Given the description of an element on the screen output the (x, y) to click on. 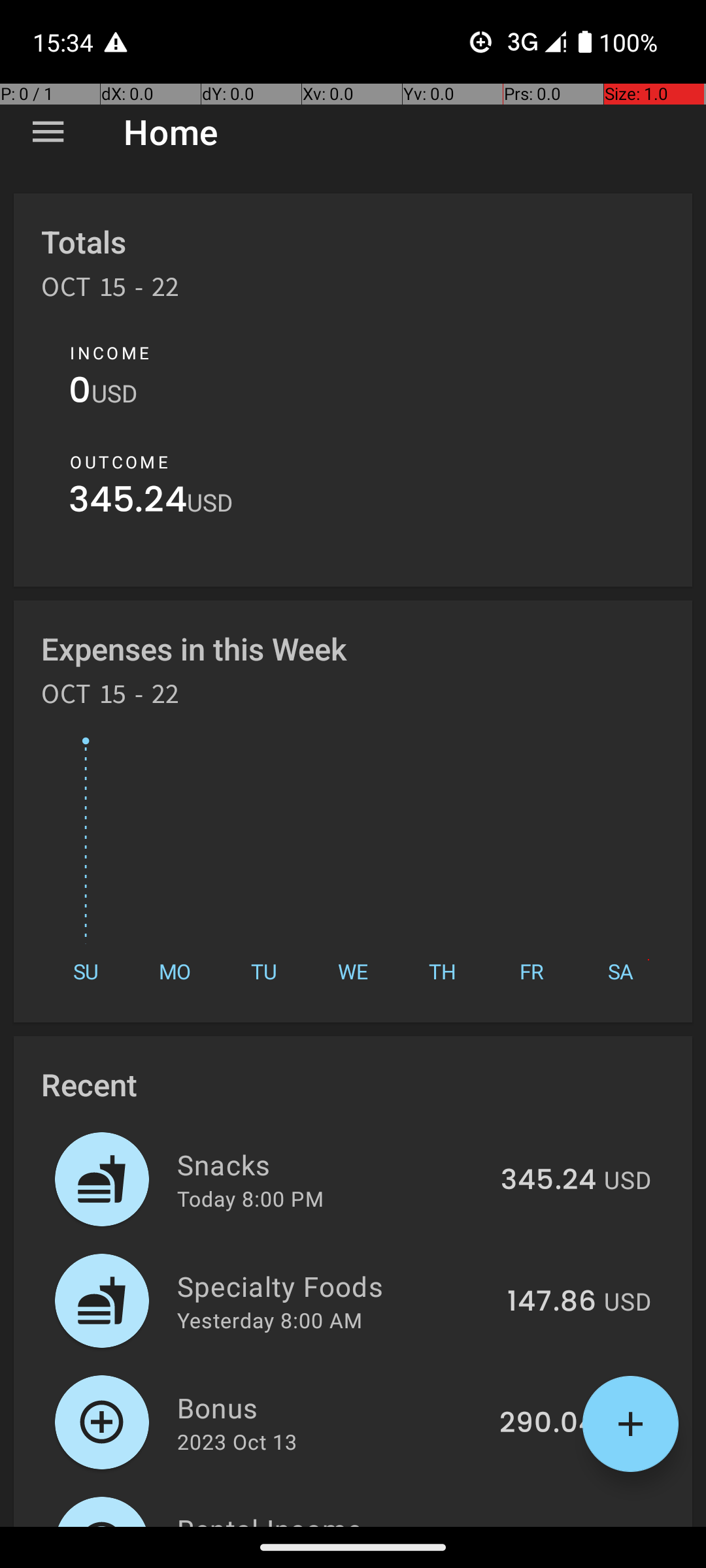
Totals Element type: android.widget.TextView (83, 240)
OCT 15 - 22 Element type: android.widget.TextView (110, 291)
INCOME Element type: android.widget.TextView (109, 352)
OUTCOME Element type: android.widget.TextView (118, 461)
345.24 Element type: android.widget.TextView (127, 502)
Expenses in this Week Element type: android.widget.TextView (194, 648)
Recent Element type: android.widget.TextView (89, 1083)
Snacks Element type: android.widget.TextView (331, 1164)
Today 8:00 PM Element type: android.widget.TextView (250, 1198)
Specialty Foods Element type: android.widget.TextView (334, 1285)
Yesterday 8:00 AM Element type: android.widget.TextView (269, 1320)
147.86 Element type: android.widget.TextView (551, 1301)
Bonus Element type: android.widget.TextView (330, 1407)
2023 Oct 13 Element type: android.widget.TextView (236, 1441)
290.04 Element type: android.widget.TextView (547, 1423)
Rental Income Element type: android.widget.TextView (331, 1518)
463.23 Element type: android.widget.TextView (548, 1524)
